Given the description of an element on the screen output the (x, y) to click on. 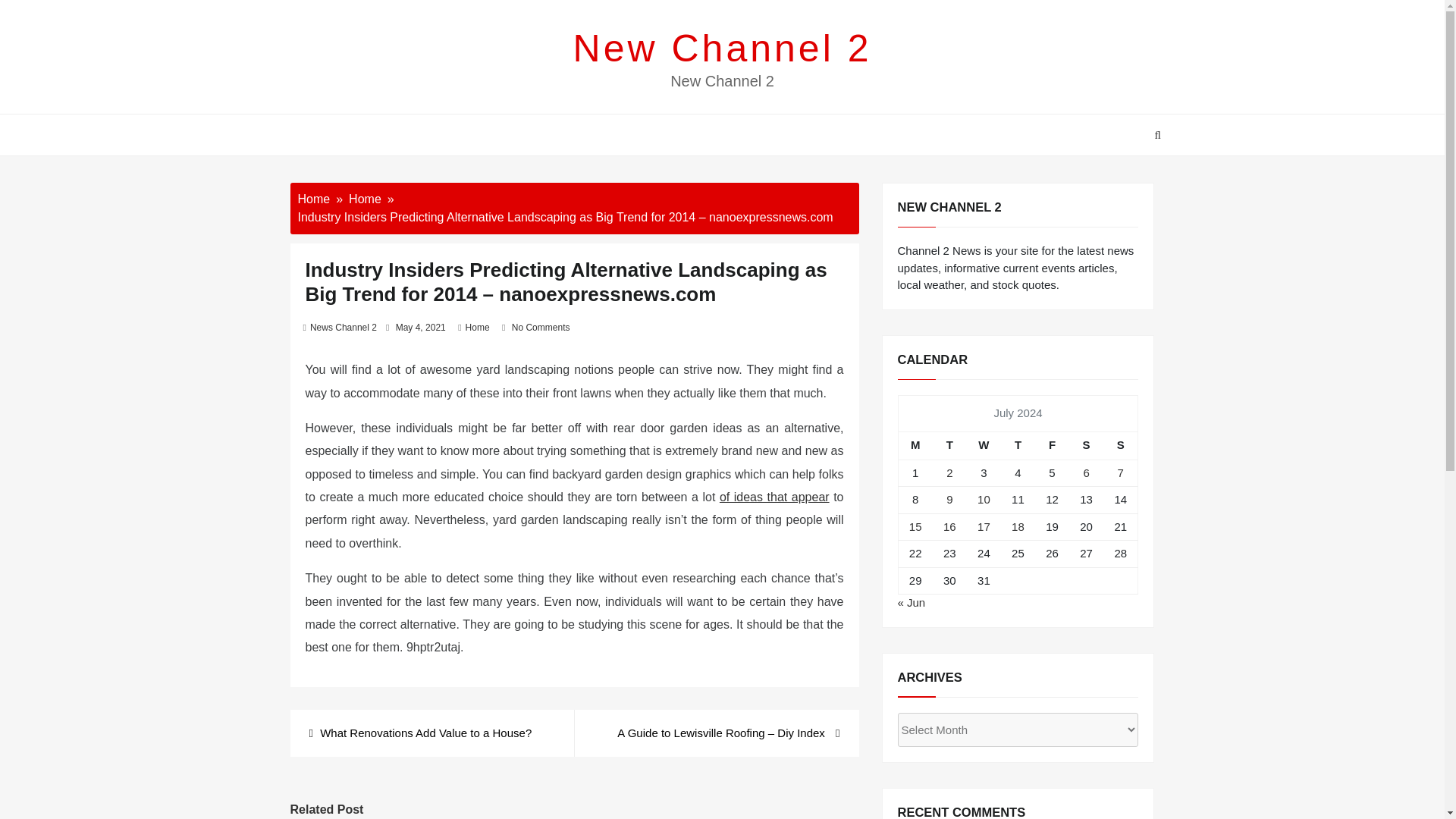
18 (1018, 526)
Friday (1051, 445)
Wednesday (983, 445)
New Channel 2 (722, 48)
What Renovations Add Value to a House? (420, 733)
Thursday (1018, 445)
16 (949, 526)
Home (365, 198)
Saturday (1085, 445)
No Comments (541, 327)
15 (914, 526)
10 (983, 499)
May 4, 2021 (420, 327)
Sunday (1120, 445)
Monday (915, 445)
